Given the description of an element on the screen output the (x, y) to click on. 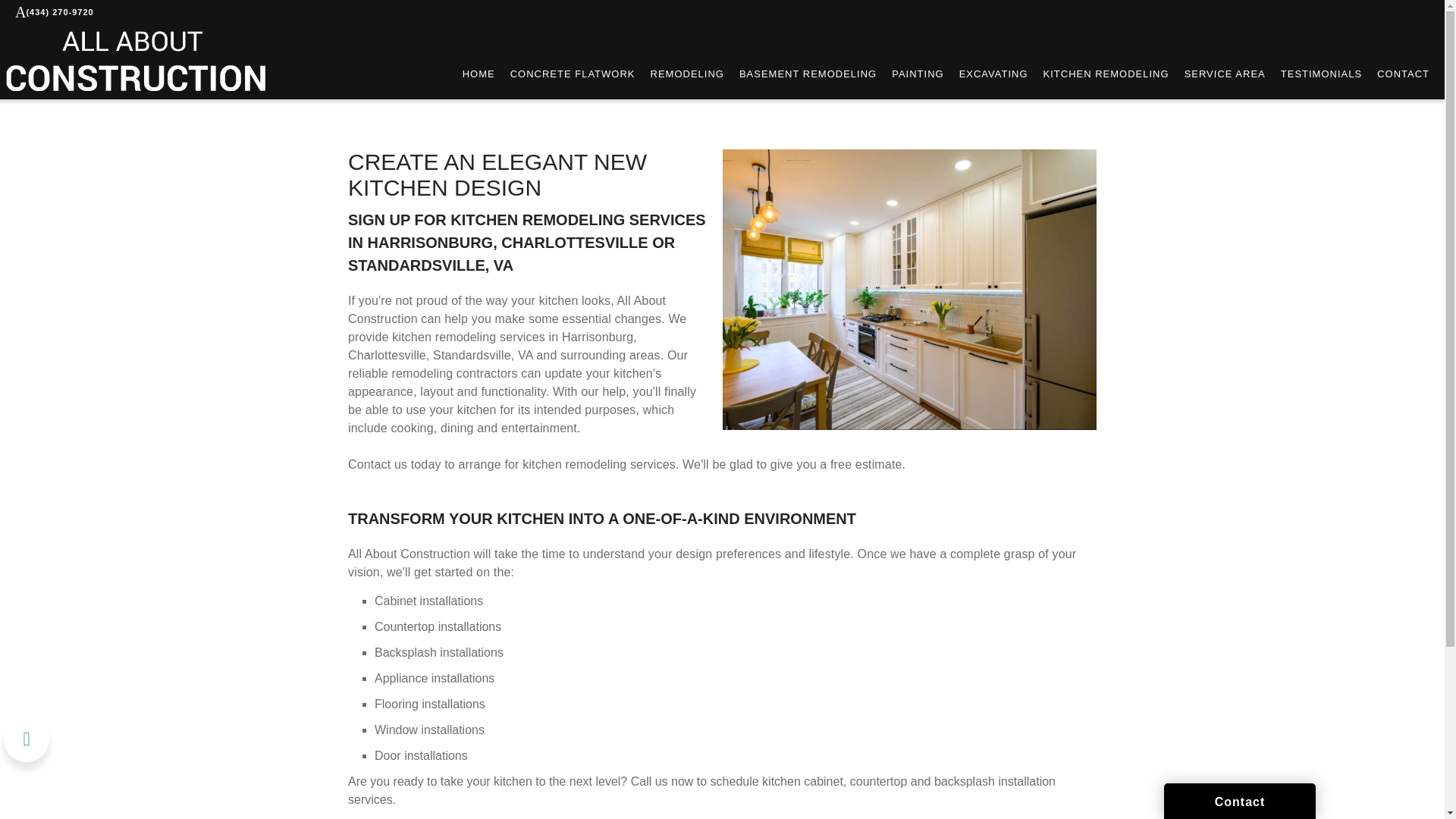
EXCAVATING (993, 74)
SERVICE AREA (1225, 74)
HOME (479, 74)
REMODELING (686, 74)
KITCHEN REMODELING (1106, 74)
CONTACT (1403, 74)
PAINTING (917, 74)
CONCRETE FLATWORK (572, 74)
TESTIMONIALS (1321, 74)
Contact (1239, 800)
BASEMENT REMODELING (807, 74)
